Given the description of an element on the screen output the (x, y) to click on. 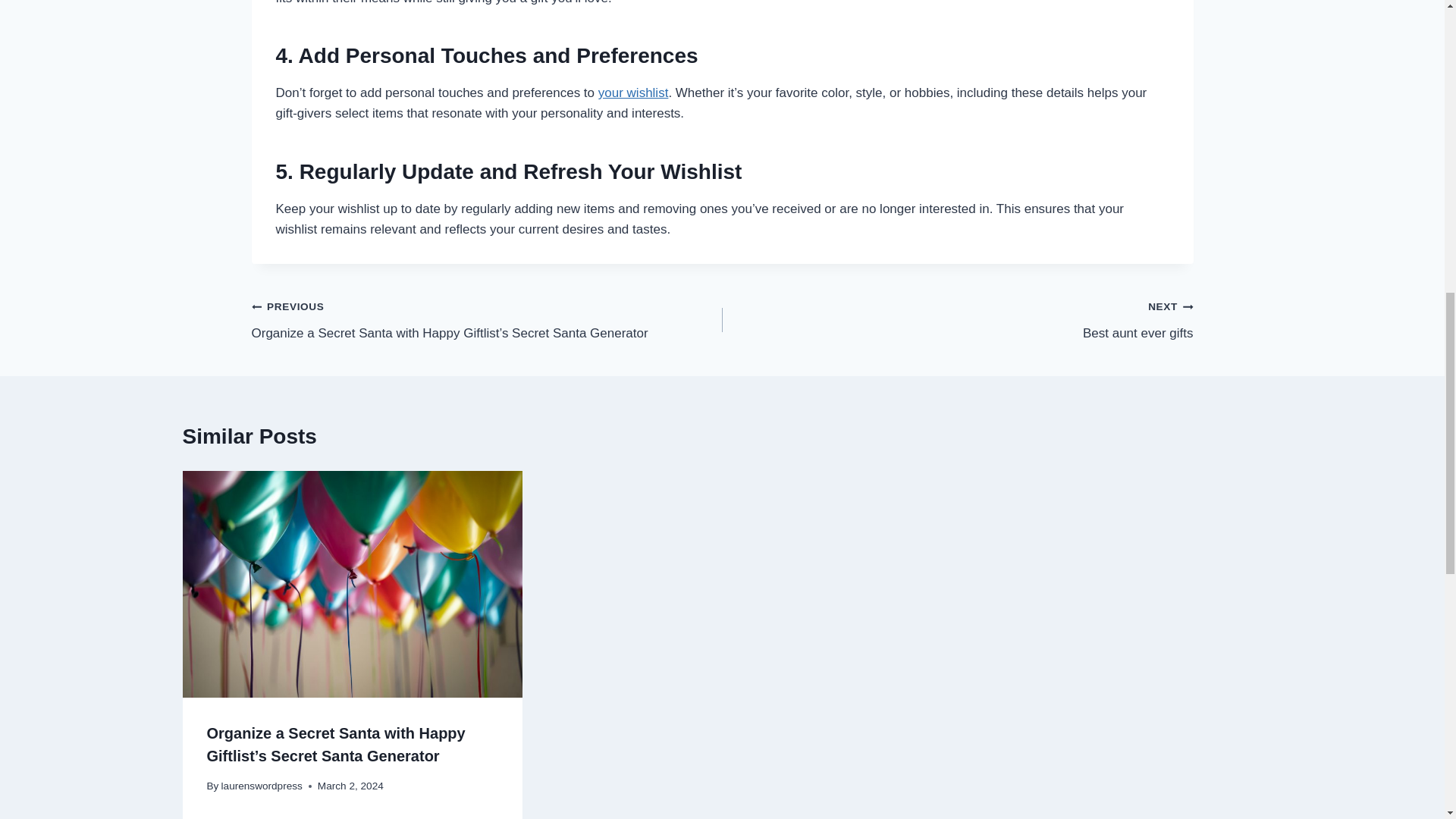
laurenswordpress (261, 785)
your wishlist (957, 319)
